Given the description of an element on the screen output the (x, y) to click on. 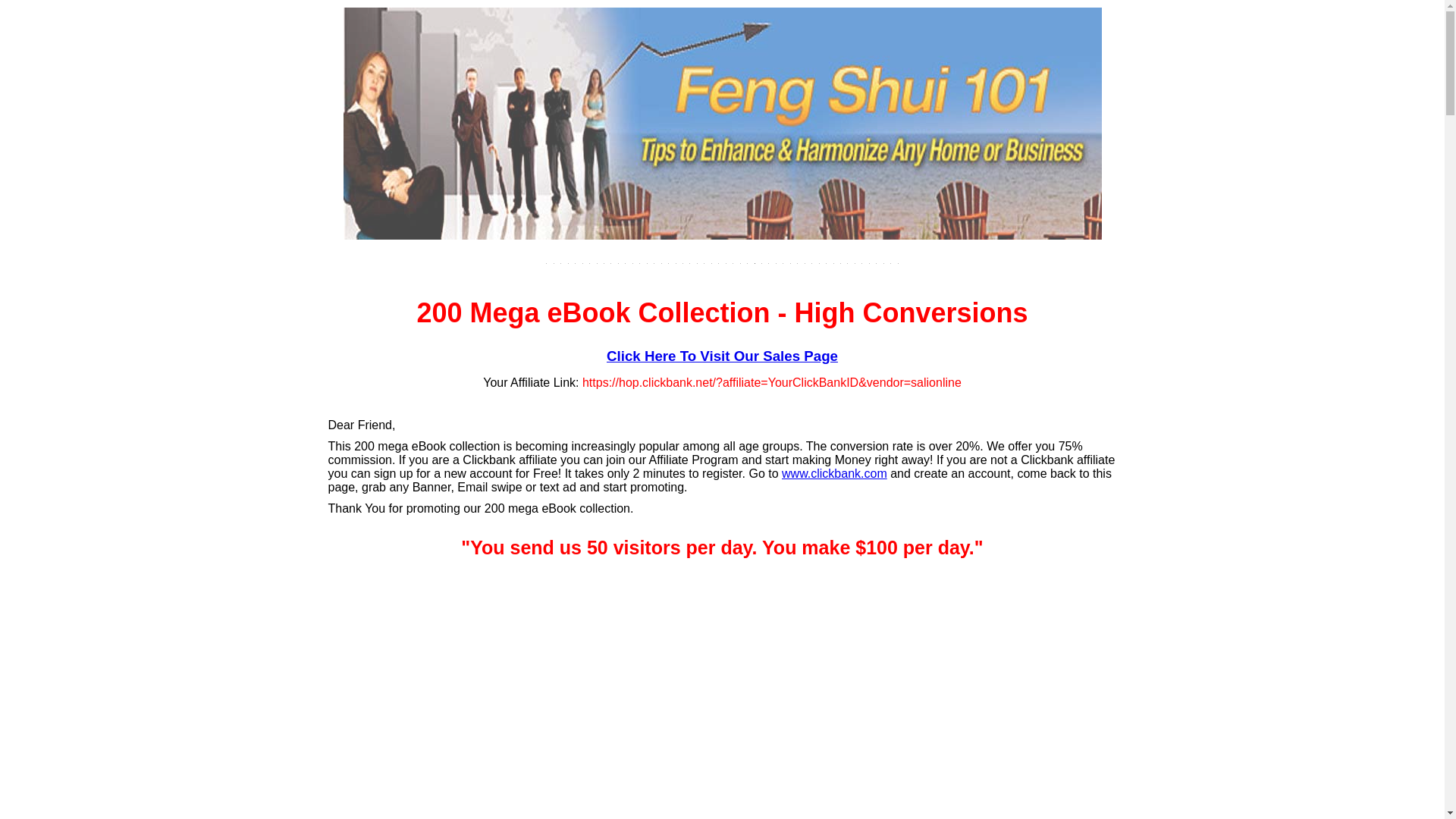
www.clickbank.com Element type: text (834, 473)
Click Here To Visit Our Sales Page Element type: text (721, 356)
